Given the description of an element on the screen output the (x, y) to click on. 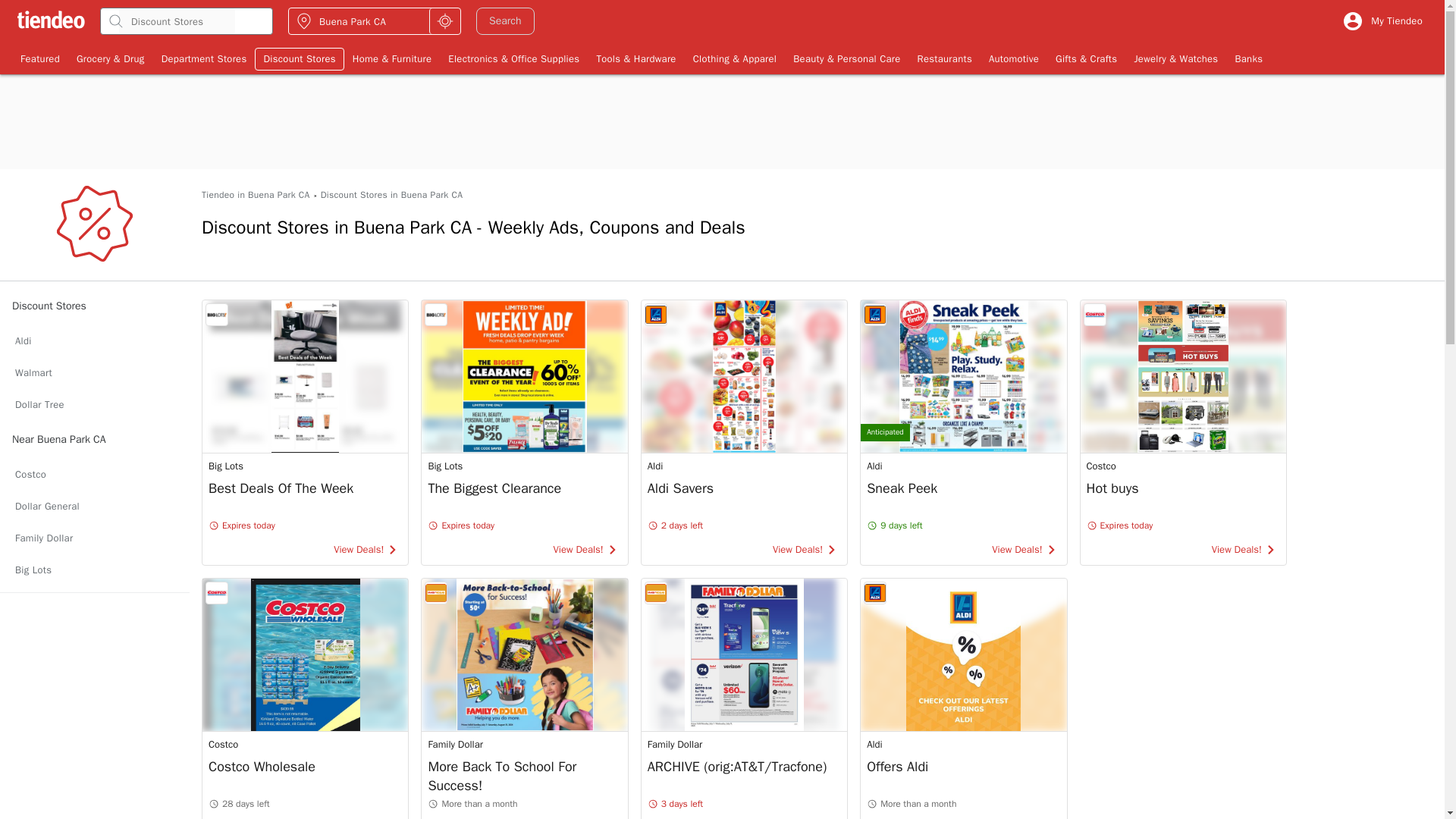
My Tiendeo (1381, 21)
Automotive (1012, 58)
Family Dollar (94, 538)
Dollar General (94, 506)
Featured (304, 432)
Discount Stores in Buena Park CA (524, 432)
Walmart (1182, 432)
Big Lots (39, 58)
Costco (391, 195)
Department Stores (94, 373)
Aldi (94, 570)
Restaurants (94, 474)
